Given the description of an element on the screen output the (x, y) to click on. 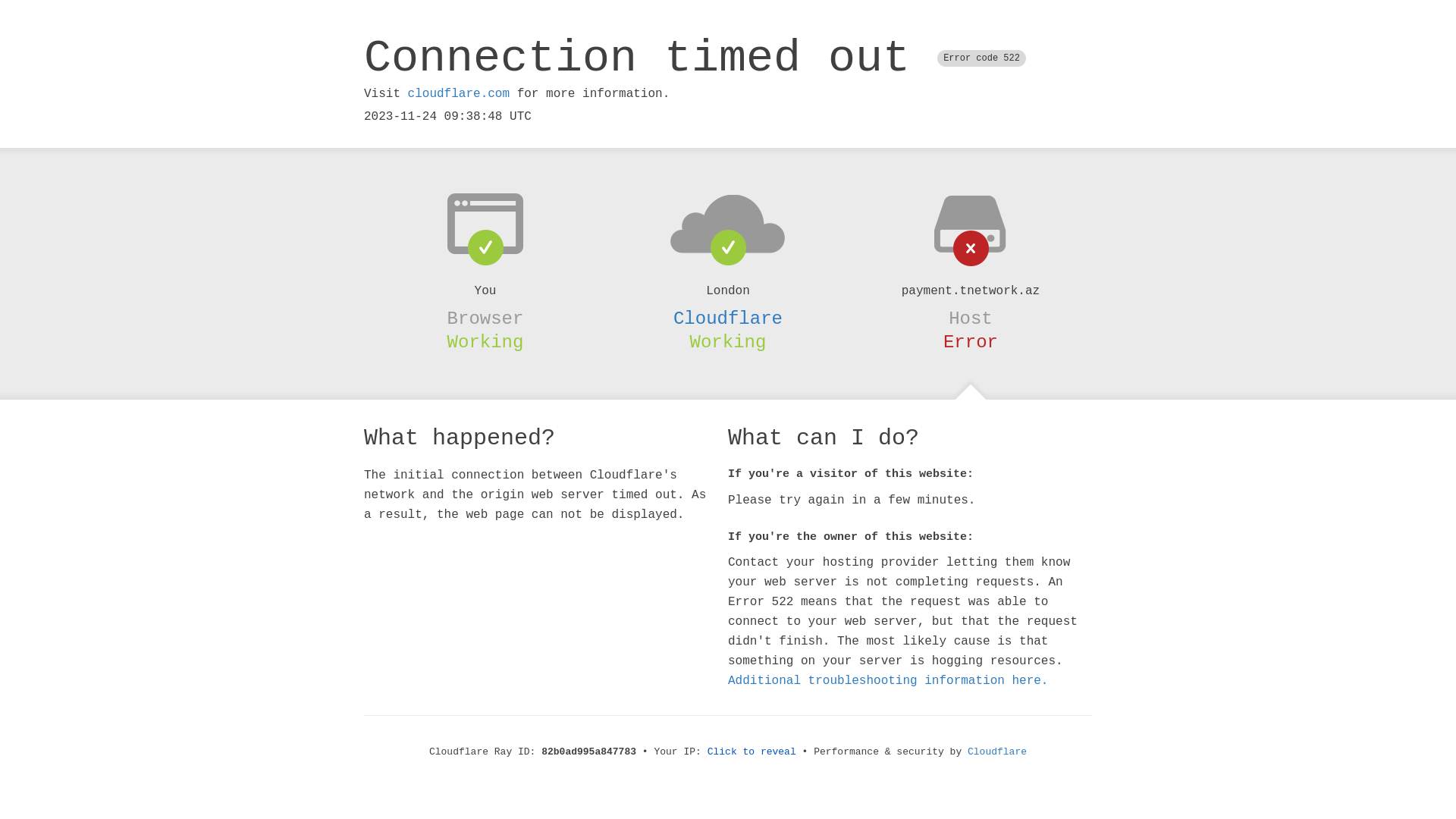
Additional troubleshooting information here. Element type: text (888, 680)
Cloudflare Element type: text (727, 318)
Click to reveal Element type: text (751, 751)
cloudflare.com Element type: text (458, 93)
Cloudflare Element type: text (996, 751)
